Given the description of an element on the screen output the (x, y) to click on. 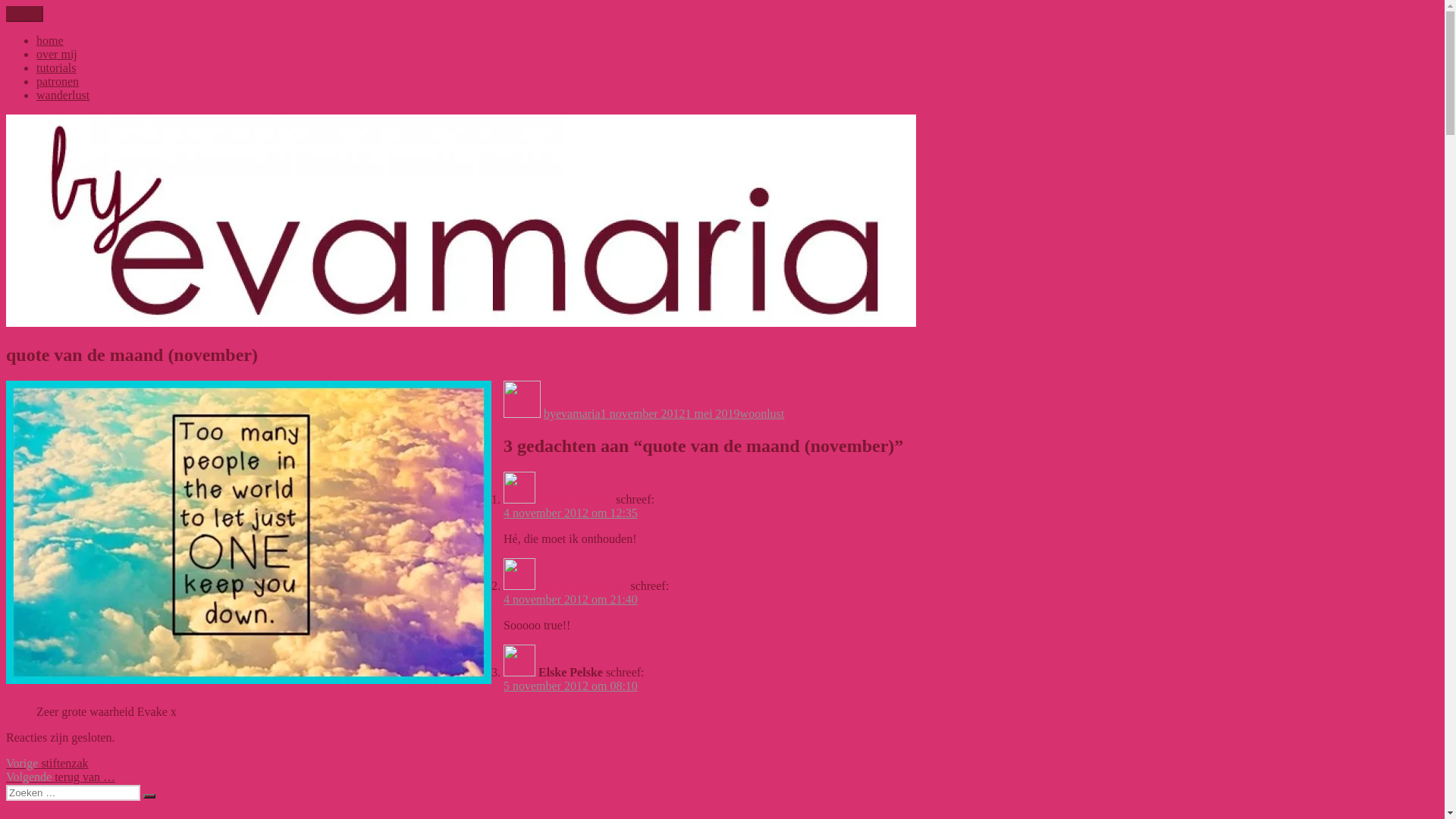
Ga naar de inhoud Element type: text (5, 5)
wanderlust Element type: text (62, 94)
5 november 2012 om 08:10 Element type: text (570, 685)
woonlust Element type: text (762, 413)
1 november 20121 mei 2019 Element type: text (670, 413)
Miss Creatuurtje Element type: text (582, 585)
Vorige
Vorig bericht:
stiftenzak Element type: text (47, 762)
over mij Element type: text (56, 53)
patronen Element type: text (57, 81)
Zoeken Element type: text (149, 795)
byevamaria Element type: text (34, 24)
tutorials Element type: text (55, 67)
home Element type: text (49, 40)
Saskia SSeWS Element type: text (575, 498)
Menu Element type: text (24, 13)
4 november 2012 om 12:35 Element type: text (570, 512)
4 november 2012 om 21:40 Element type: text (570, 599)
byevamaria Element type: text (571, 413)
